Given the description of an element on the screen output the (x, y) to click on. 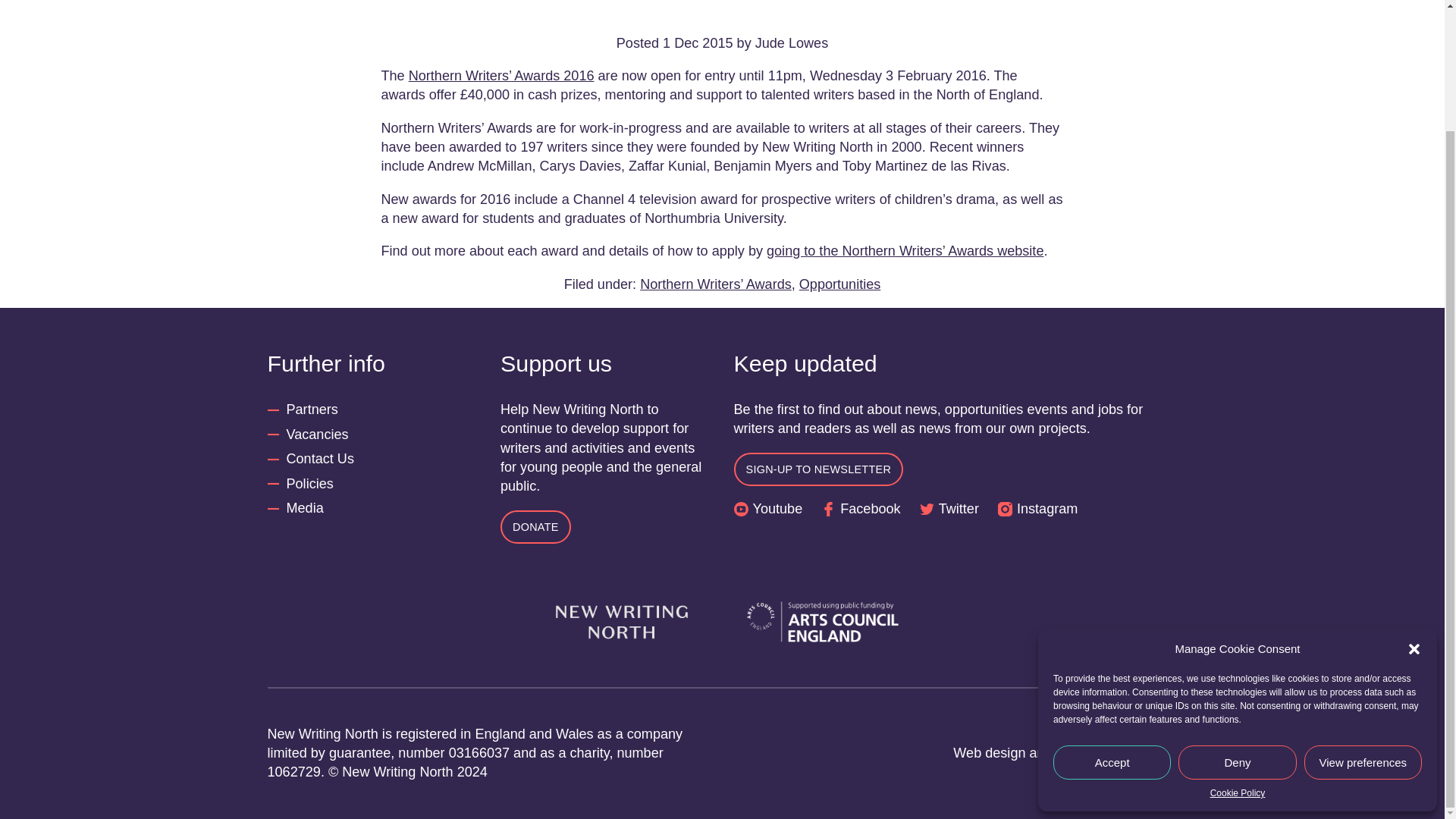
Cookie Policy (1237, 647)
Deny (1236, 616)
Accept (1111, 616)
View preferences (1363, 616)
